Given the description of an element on the screen output the (x, y) to click on. 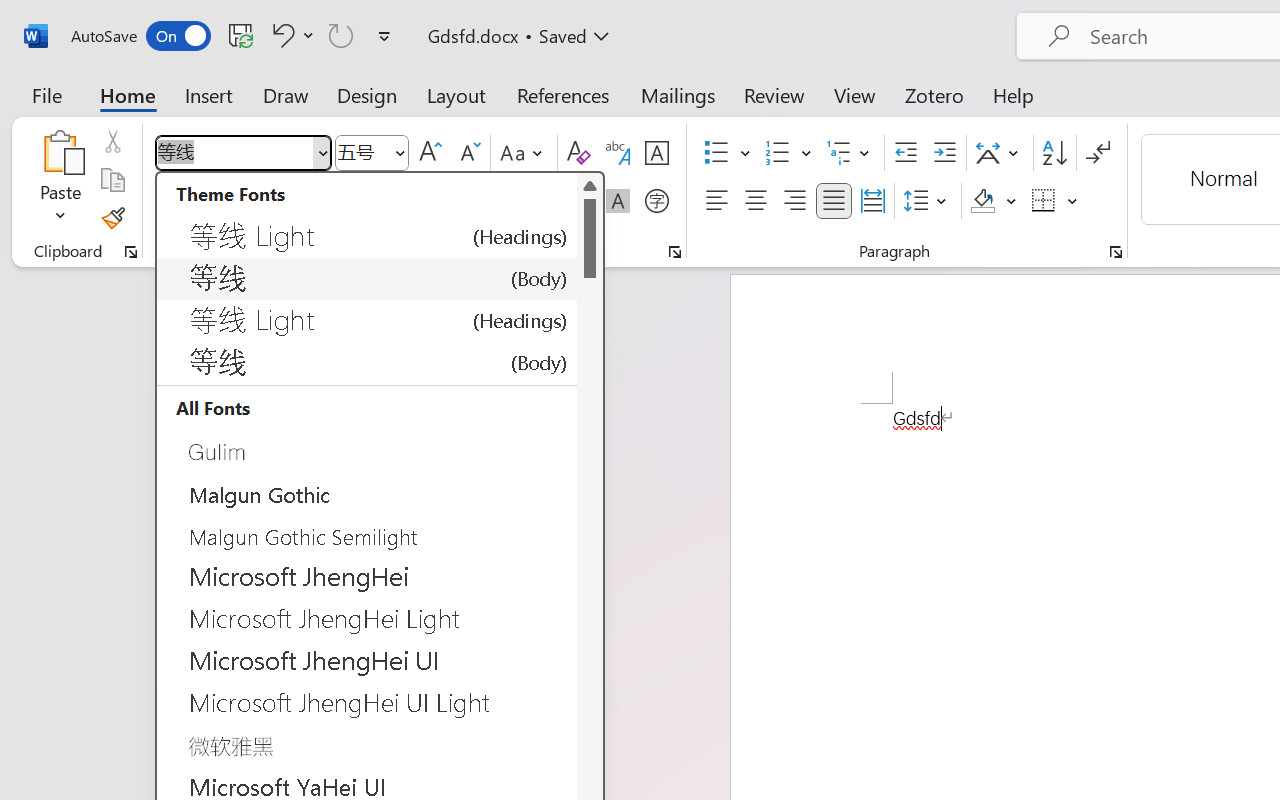
Grow Font (430, 153)
Font Color Red (556, 201)
Text Effects and Typography (444, 201)
Text Highlight Color (506, 201)
Cut (112, 141)
Undo Style (280, 35)
Align Right (794, 201)
Office Clipboard... (131, 252)
Shading (993, 201)
